Given the description of an element on the screen output the (x, y) to click on. 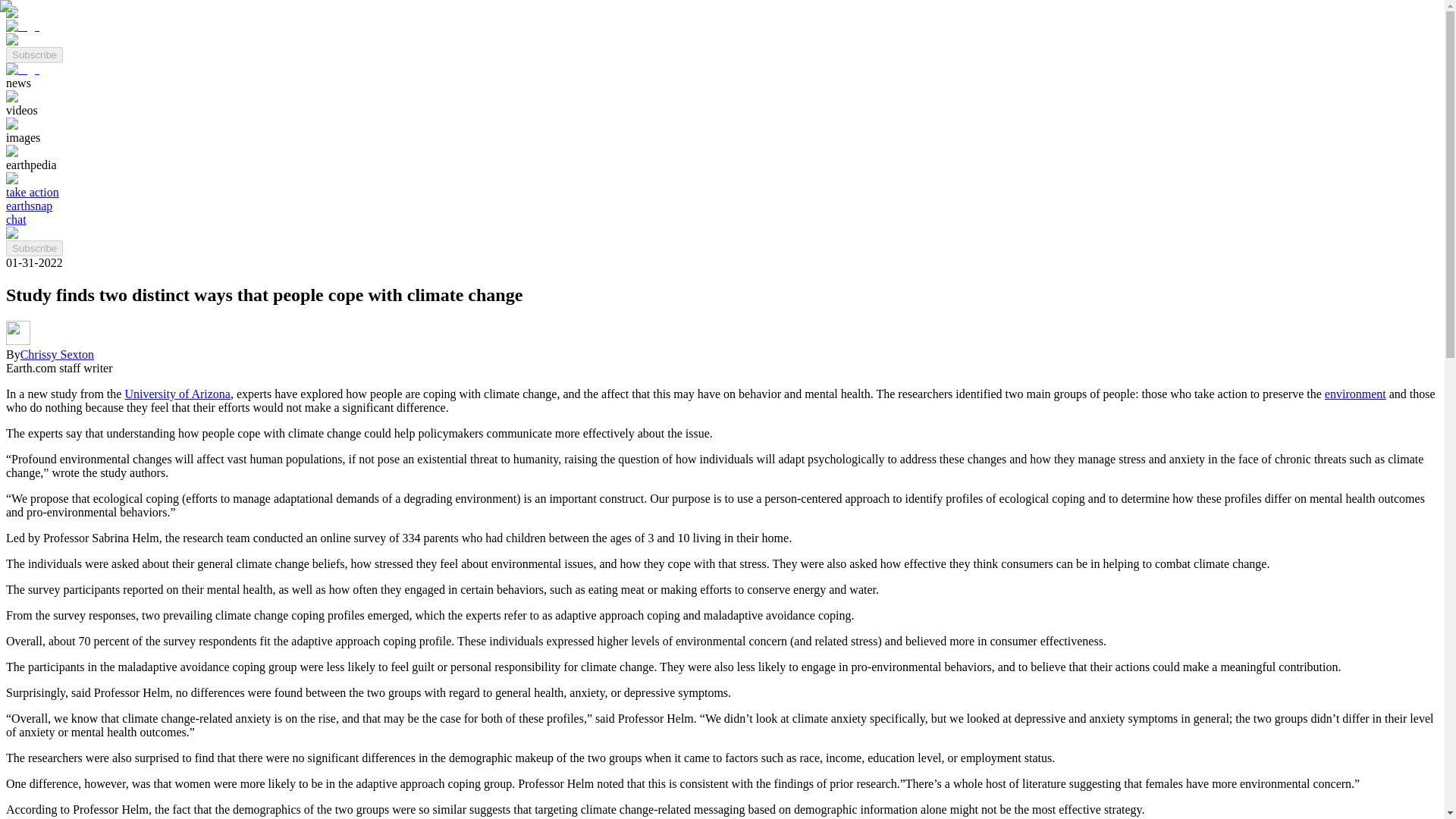
Subscribe (33, 53)
chat (15, 219)
environment (1355, 393)
Subscribe (33, 246)
take action (32, 192)
Subscribe (33, 248)
earthsnap (28, 205)
Subscribe (33, 54)
Chrissy Sexton (57, 354)
University of Arizona (176, 393)
